Given the description of an element on the screen output the (x, y) to click on. 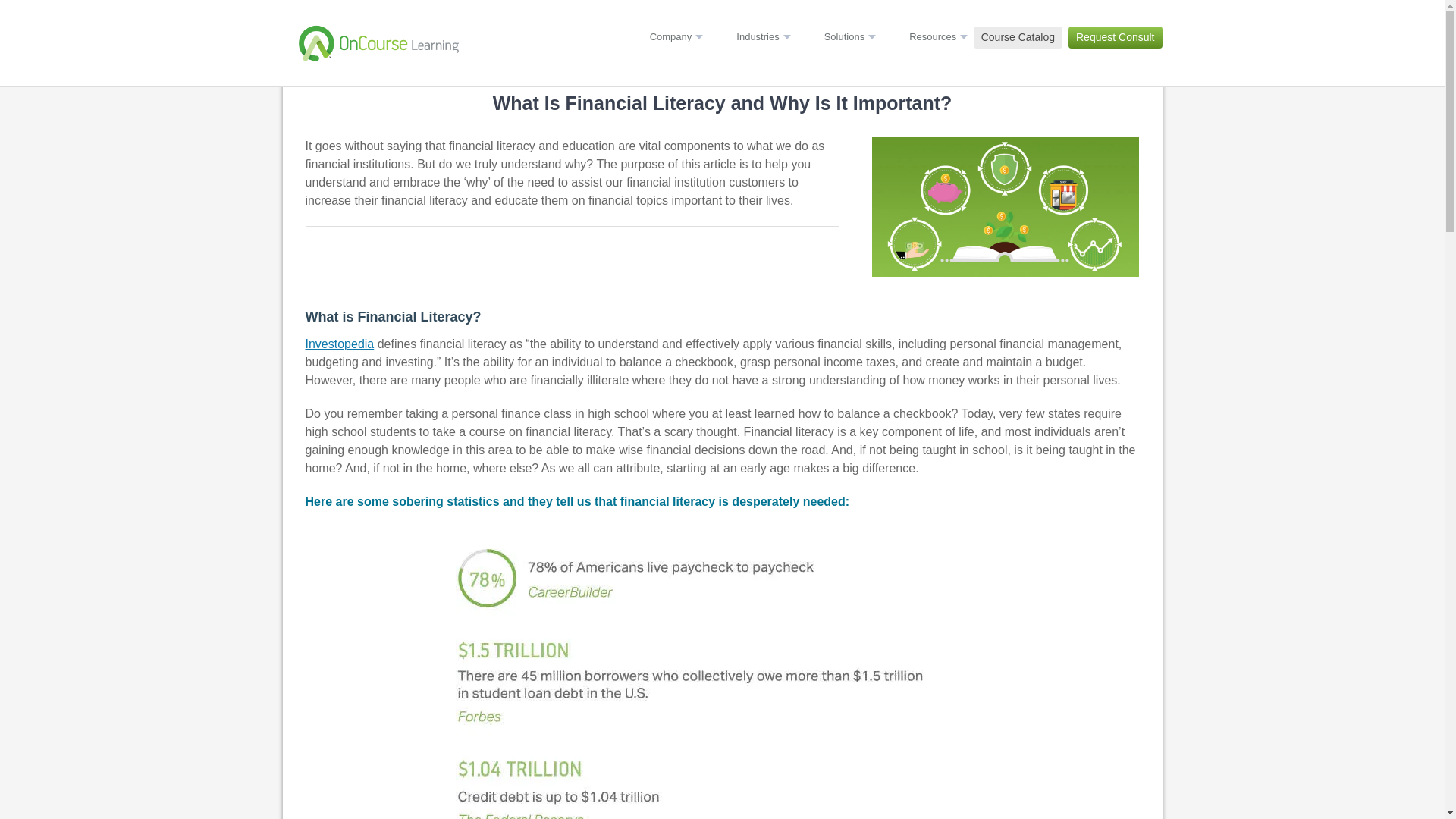
Course Catalog (1017, 37)
Request Consult (1114, 37)
